Given the description of an element on the screen output the (x, y) to click on. 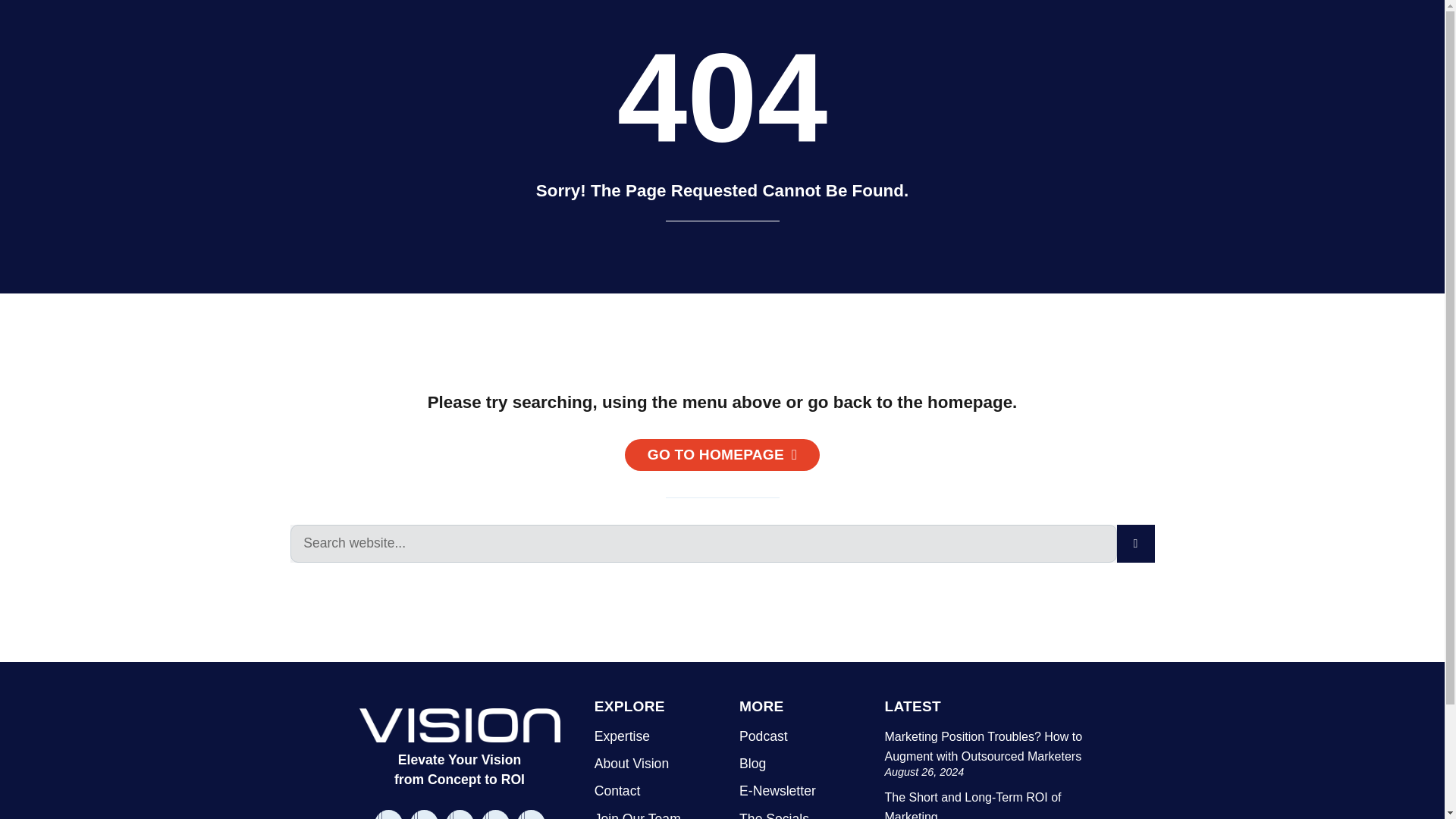
like us on facebook - link opens a new window (388, 814)
follow us on instagram - link opens a new window (423, 814)
follow us on linked in - link opens a new window (459, 814)
view our youtube channel - link opens a new window (494, 814)
listen to our podcast - link opens a new window (530, 814)
